Given the description of an element on the screen output the (x, y) to click on. 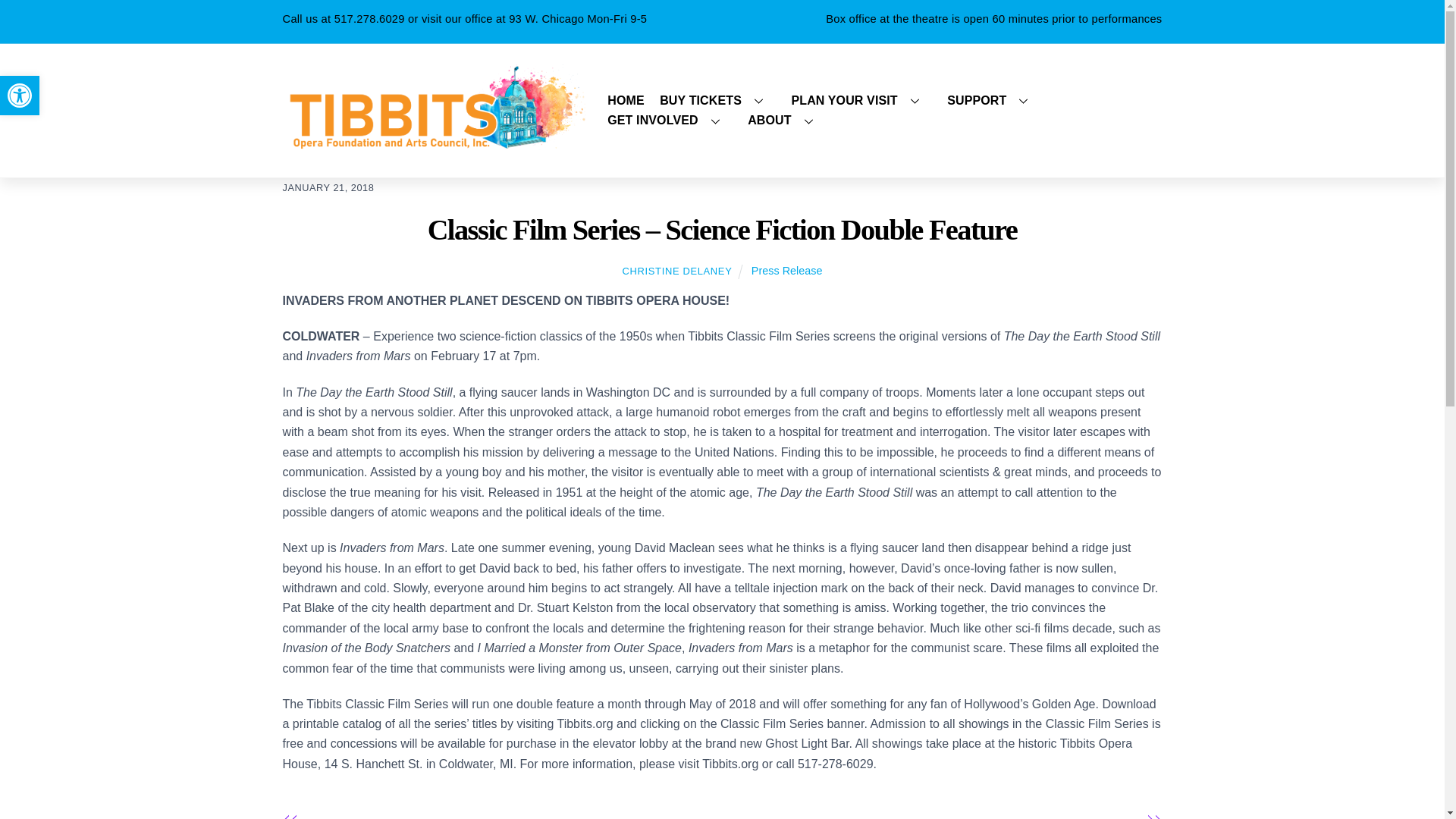
GET INVOLVED (669, 120)
HOME (881, 110)
BUY TICKETS (626, 100)
Accessibility Tools (717, 100)
PLAN YOUR VISIT (19, 95)
TIBBITS OPERA FOUNDATION AND ARTS COUNCIL, INC. (860, 100)
ABOUT (19, 95)
